Given the description of an element on the screen output the (x, y) to click on. 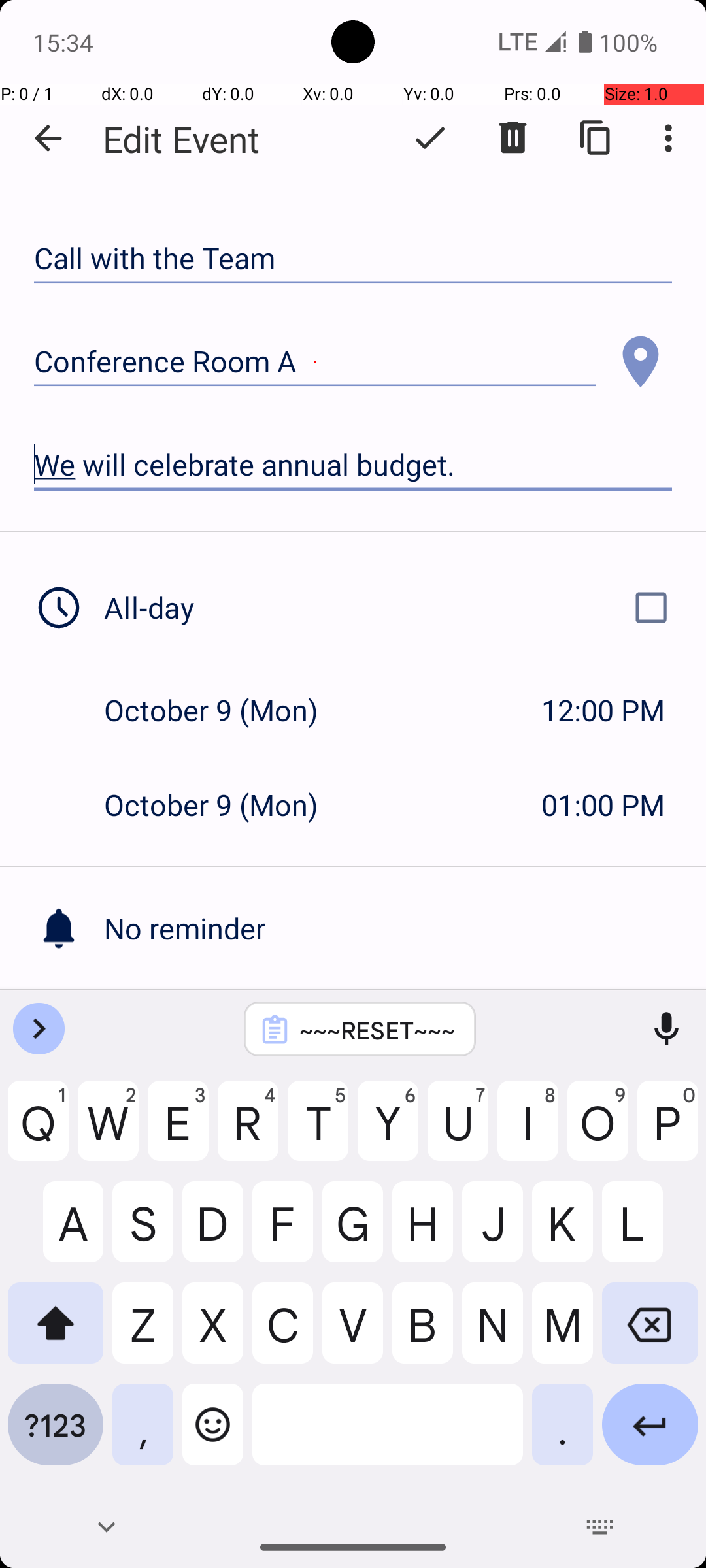
Call with the Team Element type: android.widget.EditText (352, 258)
Conference Room A Element type: android.widget.EditText (314, 361)
We will celebrate annual budget. Element type: android.widget.EditText (352, 465)
October 9 (Mon) Element type: android.widget.TextView (224, 709)
12:00 PM Element type: android.widget.TextView (602, 709)
01:00 PM Element type: android.widget.TextView (602, 804)
